Given the description of an element on the screen output the (x, y) to click on. 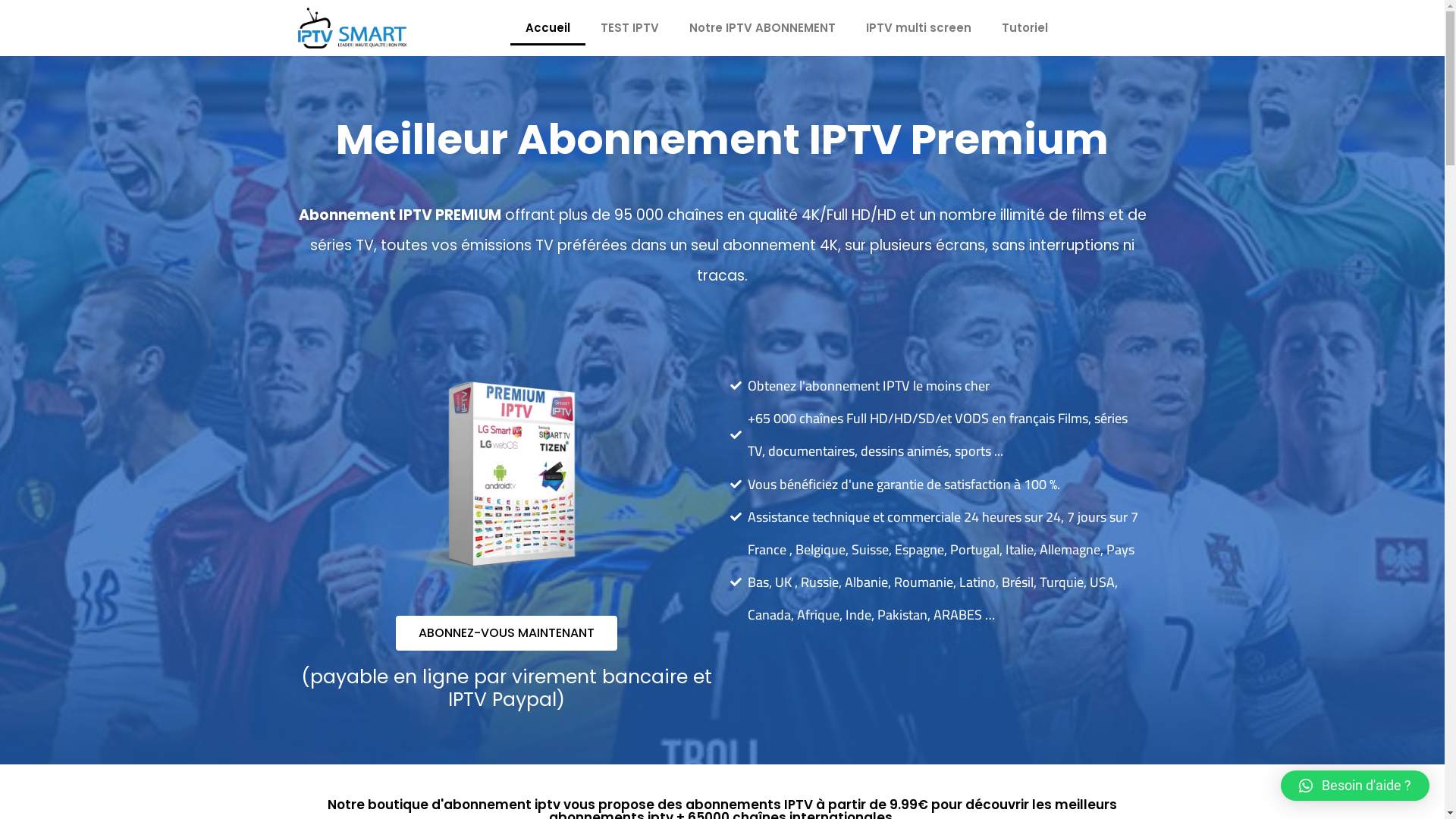
Accueil Element type: text (547, 27)
ABONNEZ-VOUS MAINTENANT Element type: text (506, 632)
IPTV multi screen Element type: text (918, 27)
TEST IPTV Element type: text (629, 27)
Notre IPTV ABONNEMENT Element type: text (762, 27)
Tutoriel Element type: text (1024, 27)
Besoin d'aide ? Element type: text (1354, 785)
